Given the description of an element on the screen output the (x, y) to click on. 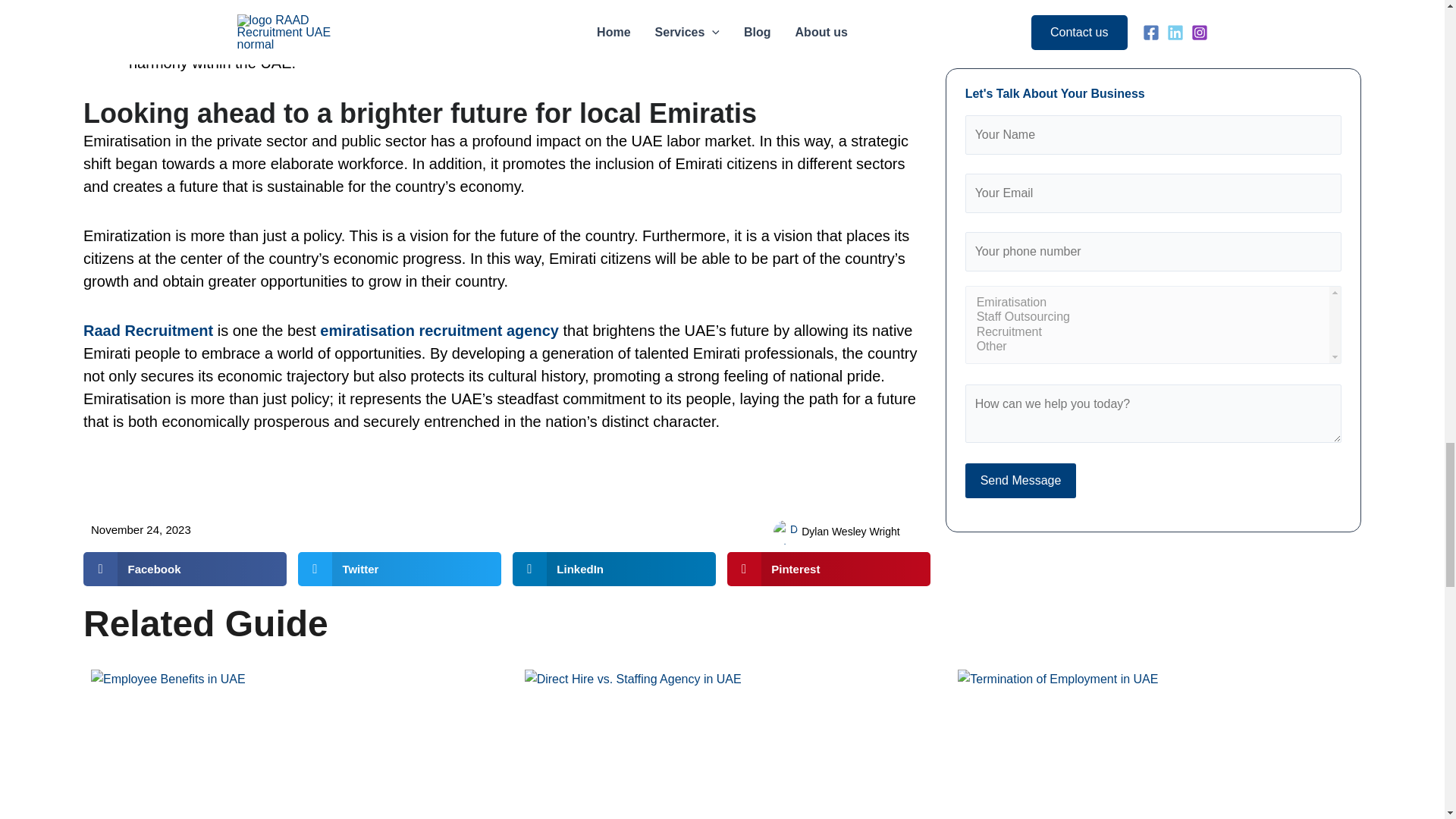
emiratisation recruitment agency (439, 330)
Raad Recruitment (147, 330)
Dylan Wesley Wright (836, 532)
